Given the description of an element on the screen output the (x, y) to click on. 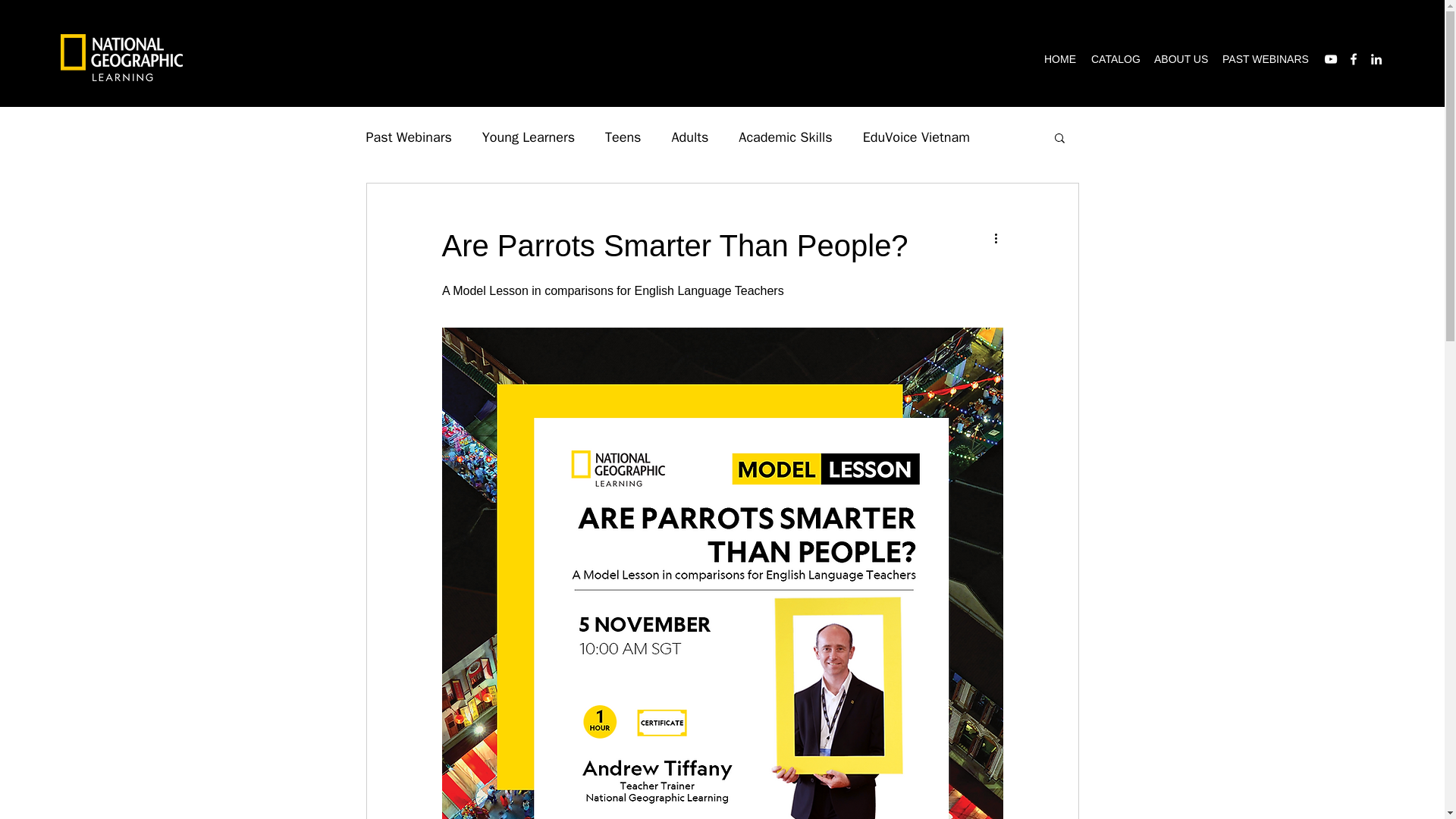
Academic Skills (784, 136)
Adults (689, 136)
CATALOG (1115, 58)
Past Webinars (408, 136)
ABOUT US (1180, 58)
Young Learners (528, 136)
EduVoice Vietnam (916, 136)
PAST WEBINARS (1262, 58)
HOME (1059, 58)
Teens (622, 136)
